Given the description of an element on the screen output the (x, y) to click on. 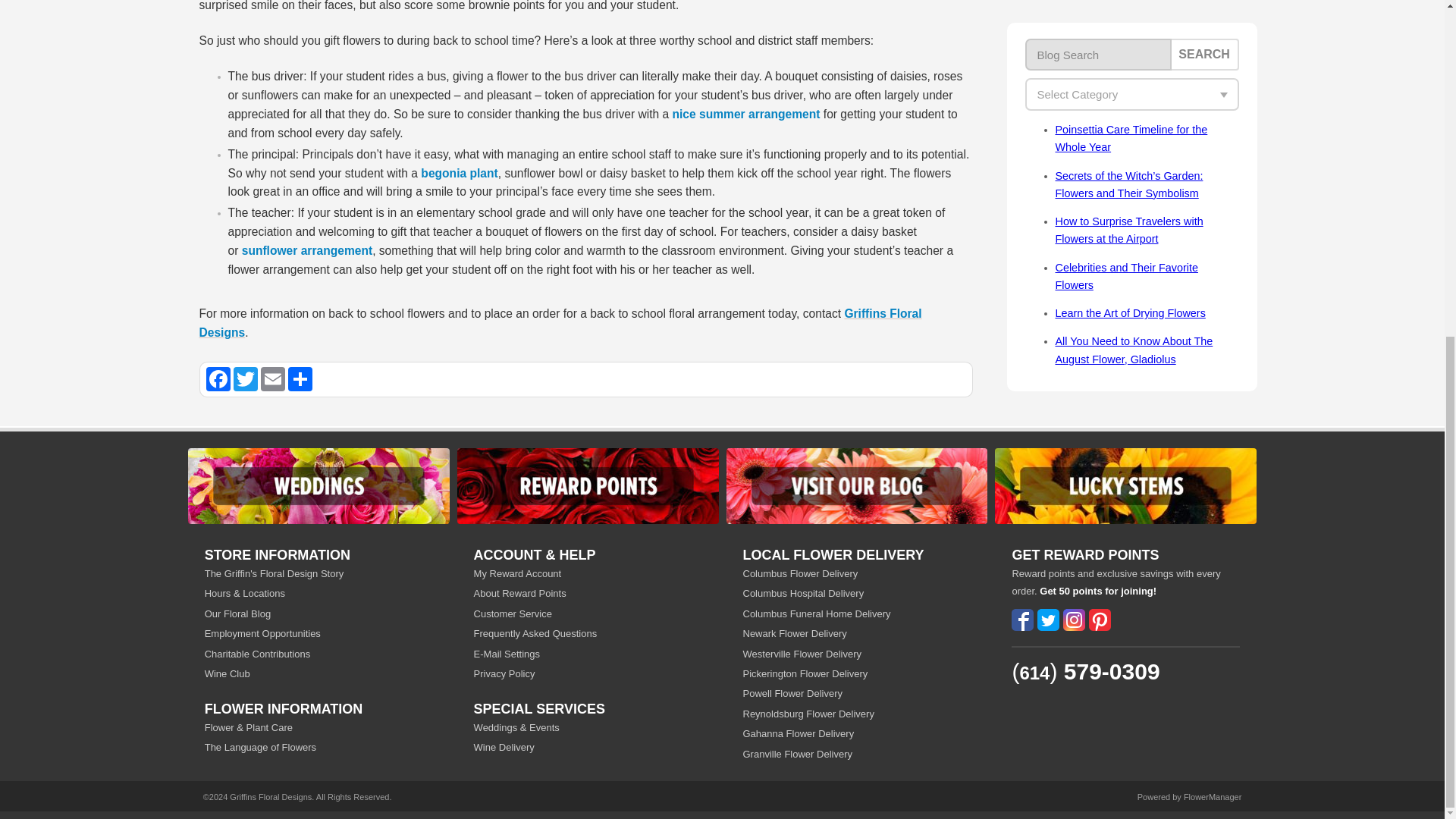
sunflower arrangement (306, 250)
Facebook (218, 378)
Share (300, 378)
Twitter (245, 378)
The Griffin's Floral Design Story (318, 573)
Email (272, 378)
begonia plant (458, 173)
Email (272, 378)
nice summer arrangement (745, 113)
Facebook (218, 378)
Our Floral Blog (318, 613)
Twitter (245, 378)
Griffins Floral Designs (559, 323)
Employment Opportunities (318, 633)
